Given the description of an element on the screen output the (x, y) to click on. 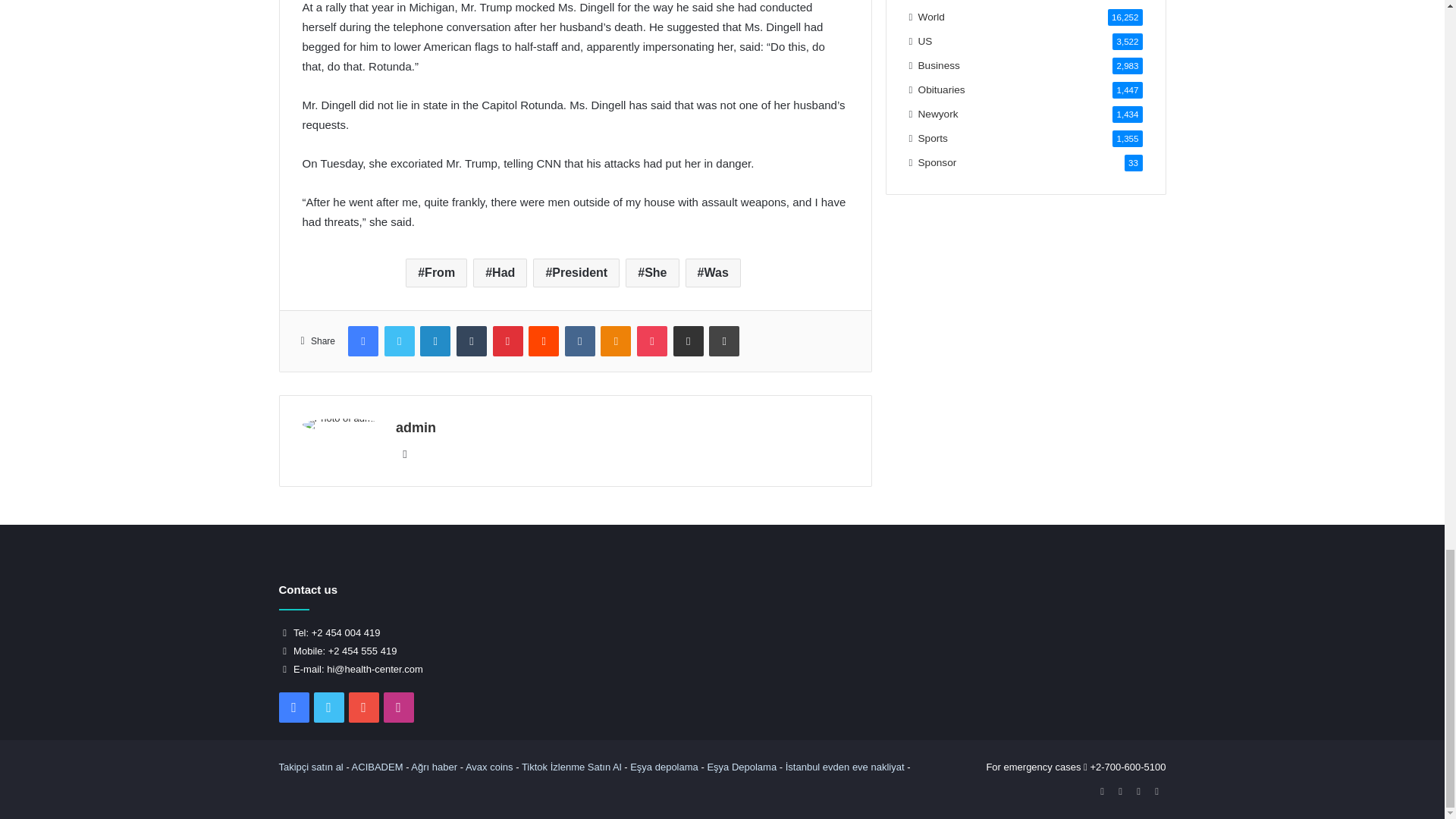
She (652, 272)
Facebook (362, 340)
Was (713, 272)
Had (500, 272)
Twitter (399, 340)
President (576, 272)
From (436, 272)
LinkedIn (434, 340)
Tumblr (471, 340)
